Given the description of an element on the screen output the (x, y) to click on. 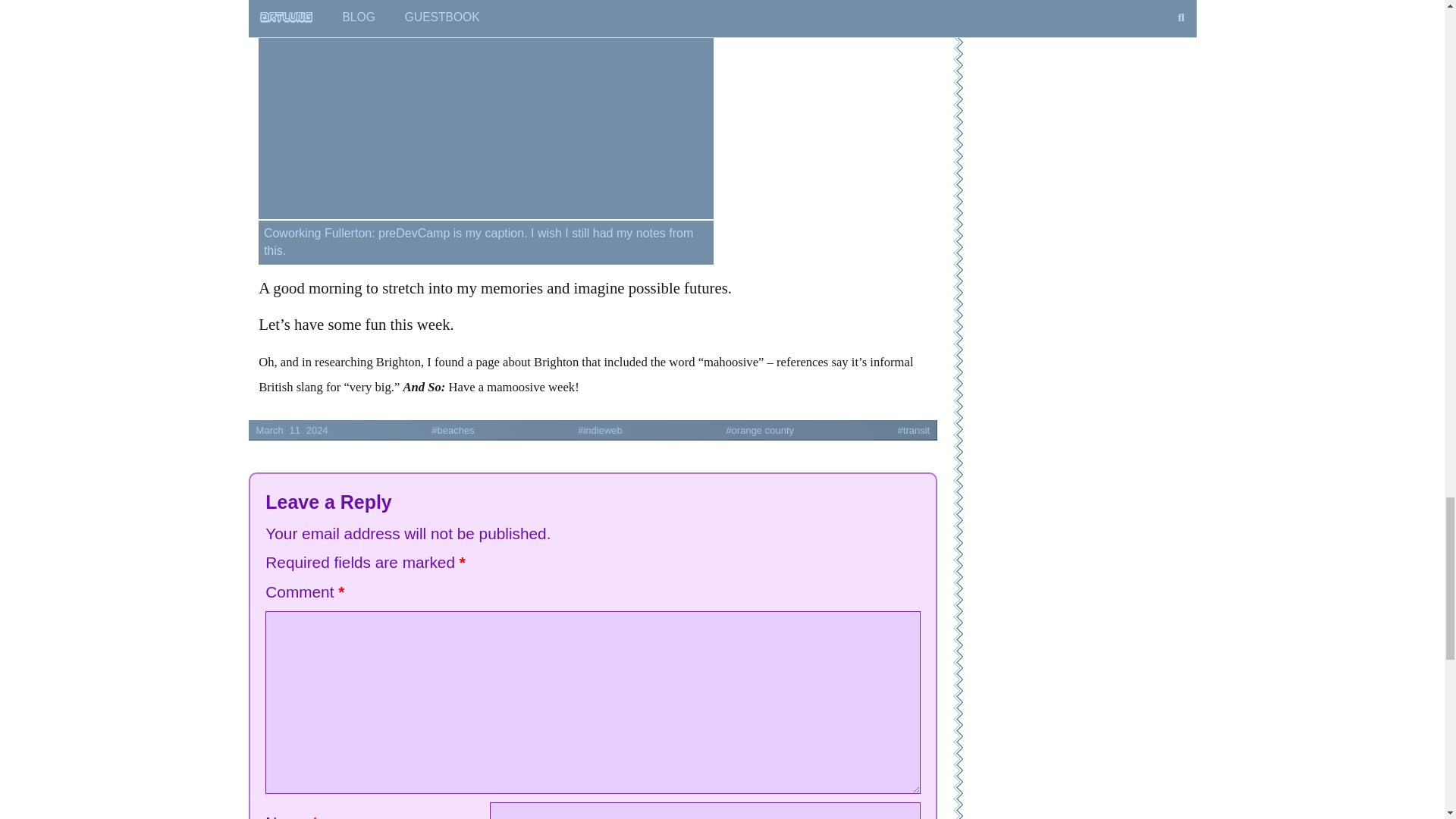
orange-county (711, 430)
beaches (404, 430)
transit (864, 430)
beaches (404, 430)
indieweb (551, 430)
orange county (711, 430)
transit (864, 430)
indieweb (551, 430)
2024 (317, 430)
March (269, 430)
